Given the description of an element on the screen output the (x, y) to click on. 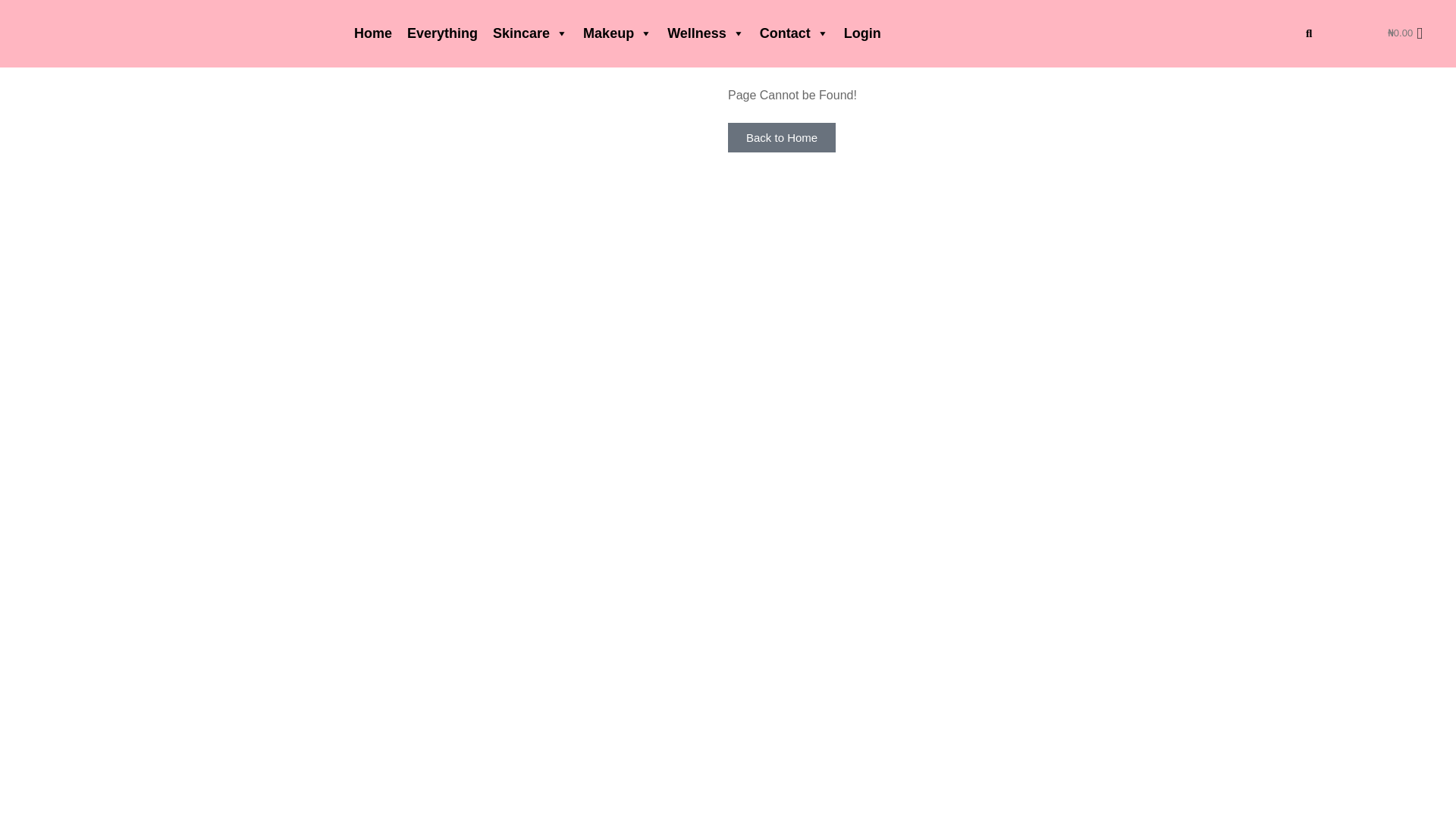
Home (372, 33)
Skincare (529, 33)
Makeup (617, 33)
Wellness (705, 33)
Everything (441, 33)
